Given the description of an element on the screen output the (x, y) to click on. 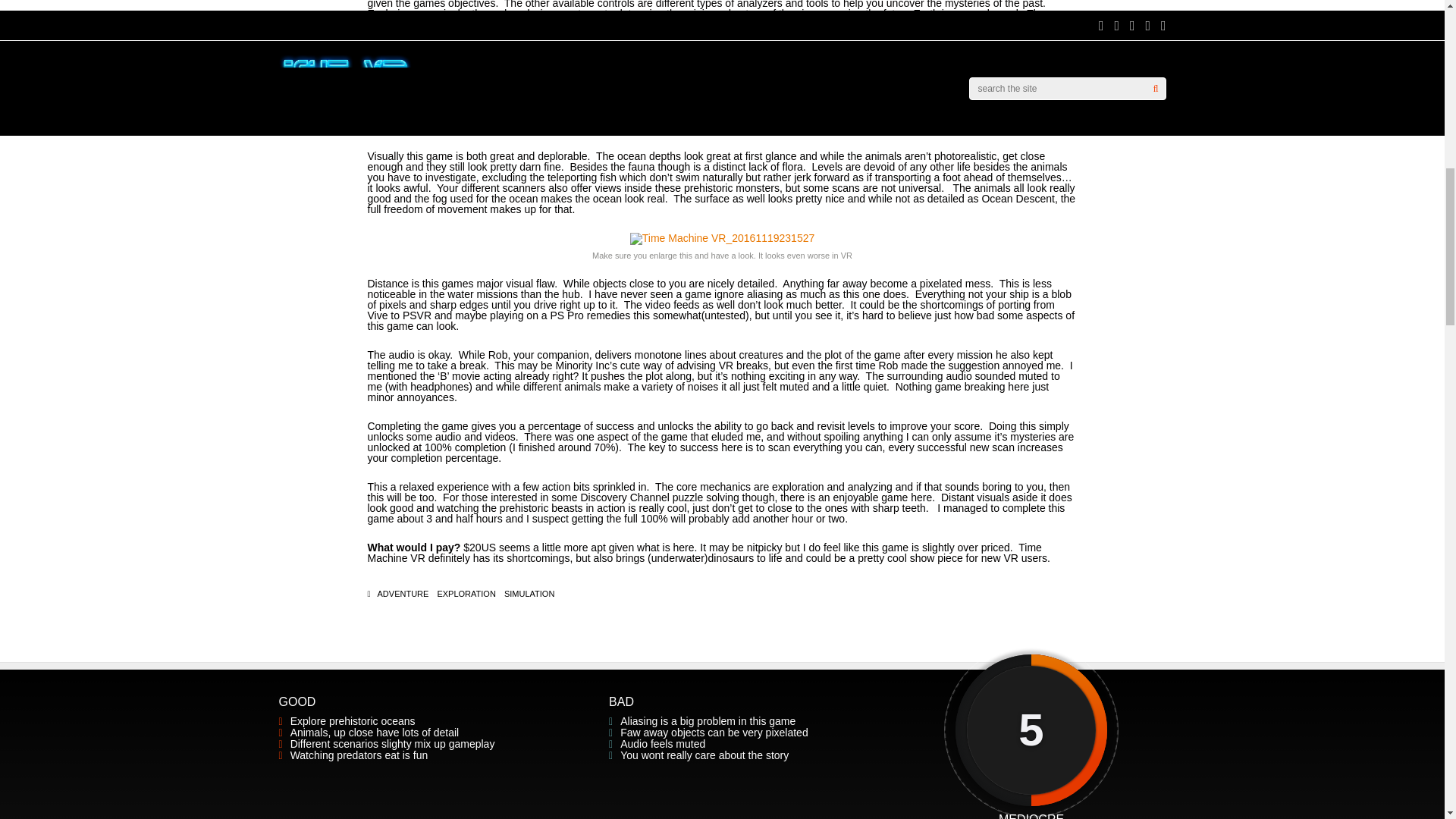
ADVENTURE (403, 593)
SIMULATION (528, 593)
EXPLORATION (465, 593)
